Given the description of an element on the screen output the (x, y) to click on. 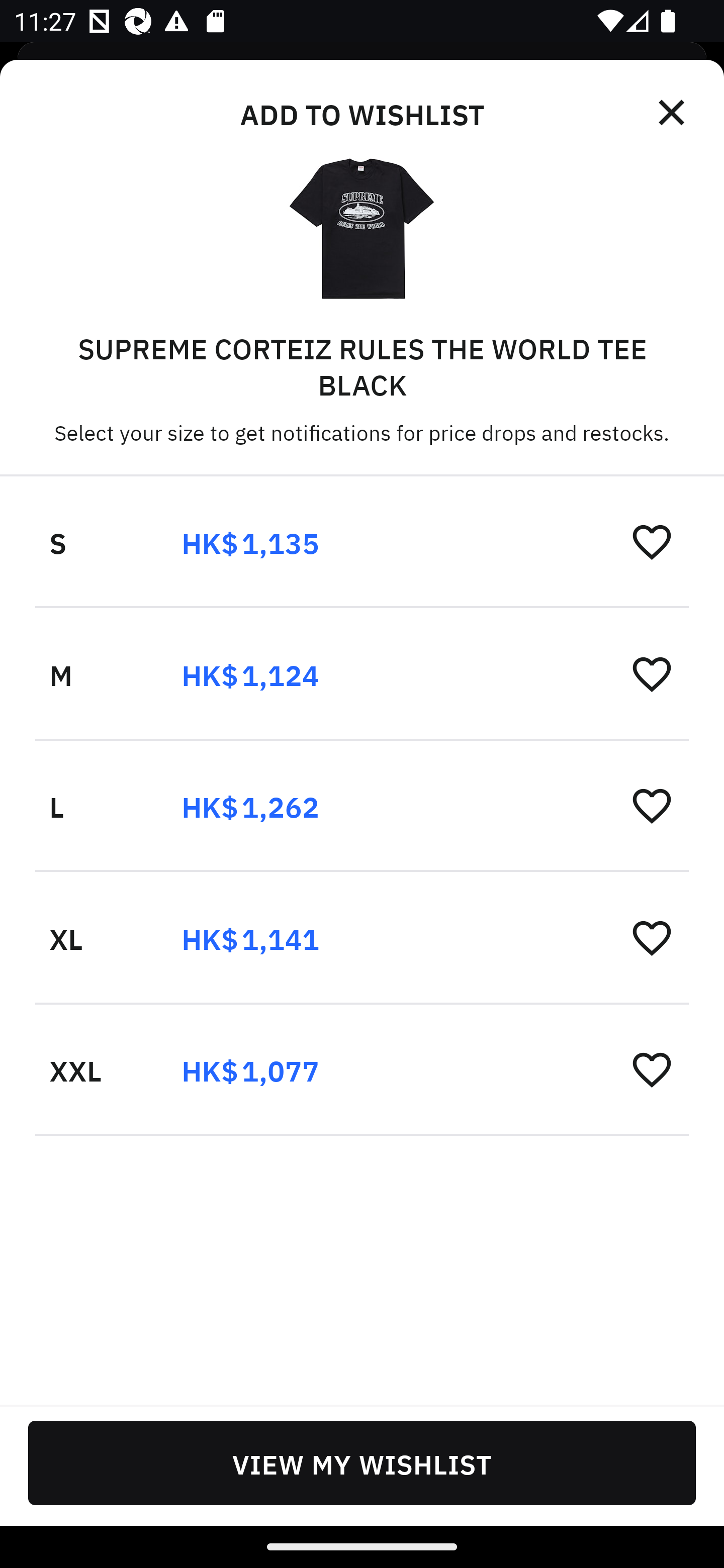
 (672, 112)
󰋕 (651, 541)
󰋕 (651, 673)
󰋕 (651, 804)
󰋕 (651, 936)
󰋕 (651, 1068)
VIEW MY WISHLIST (361, 1462)
